Given the description of an element on the screen output the (x, y) to click on. 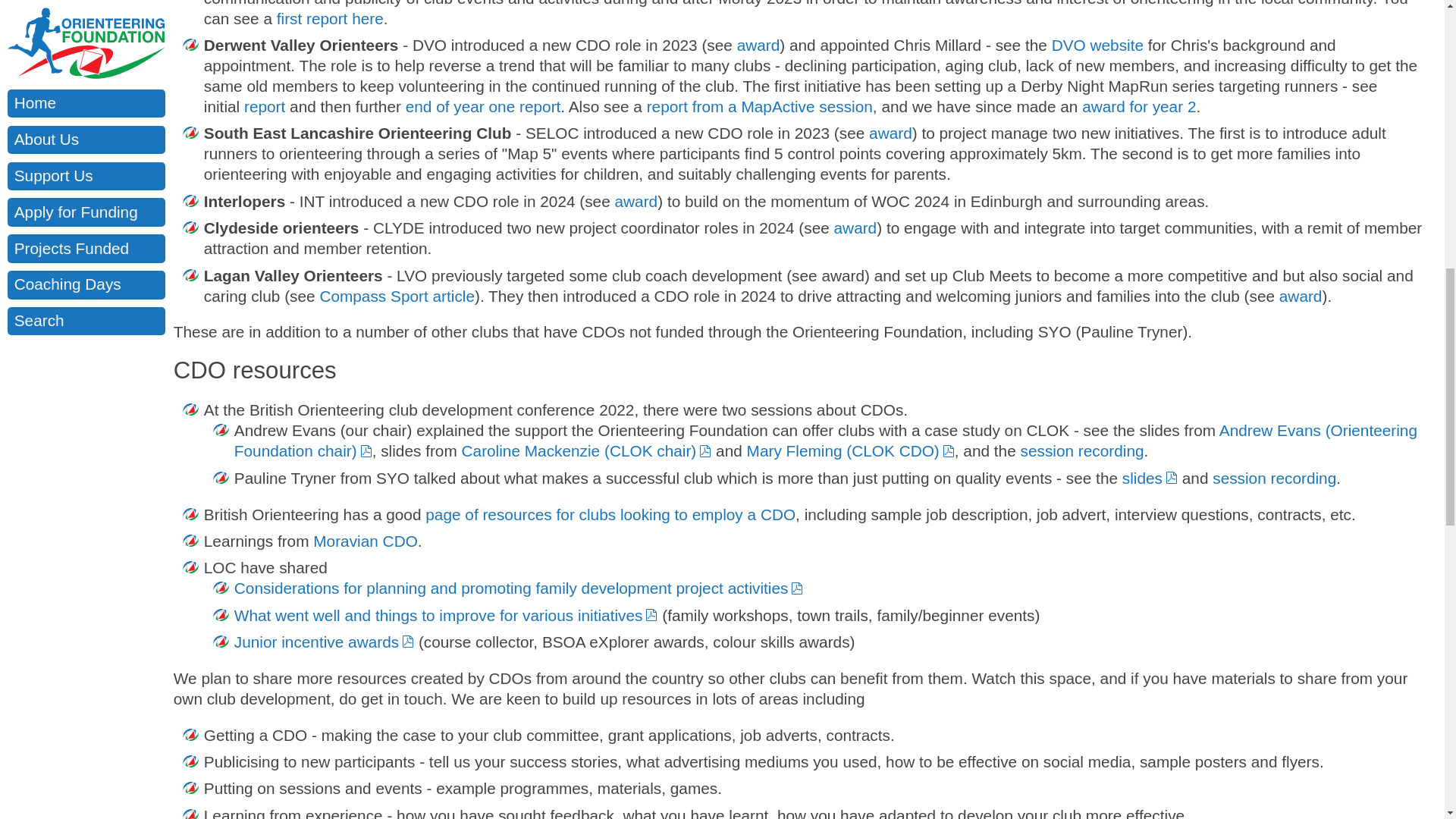
DVO website (1096, 45)
first report here (330, 18)
report (264, 106)
award for year 2 (1138, 106)
award (890, 132)
end of year one report (483, 106)
award (758, 45)
report from a MapActive session (759, 106)
